Given the description of an element on the screen output the (x, y) to click on. 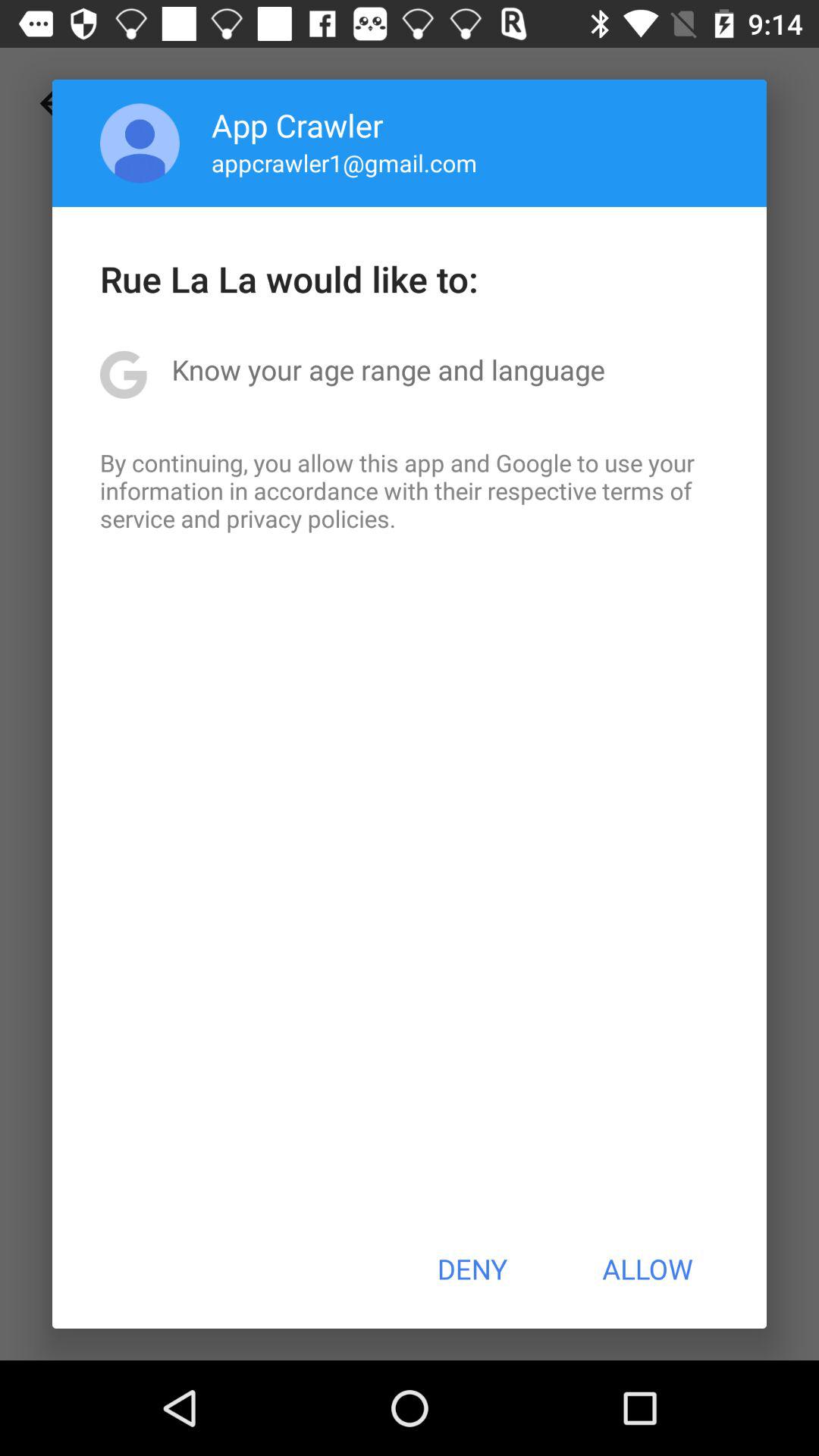
jump to app crawler app (297, 124)
